Given the description of an element on the screen output the (x, y) to click on. 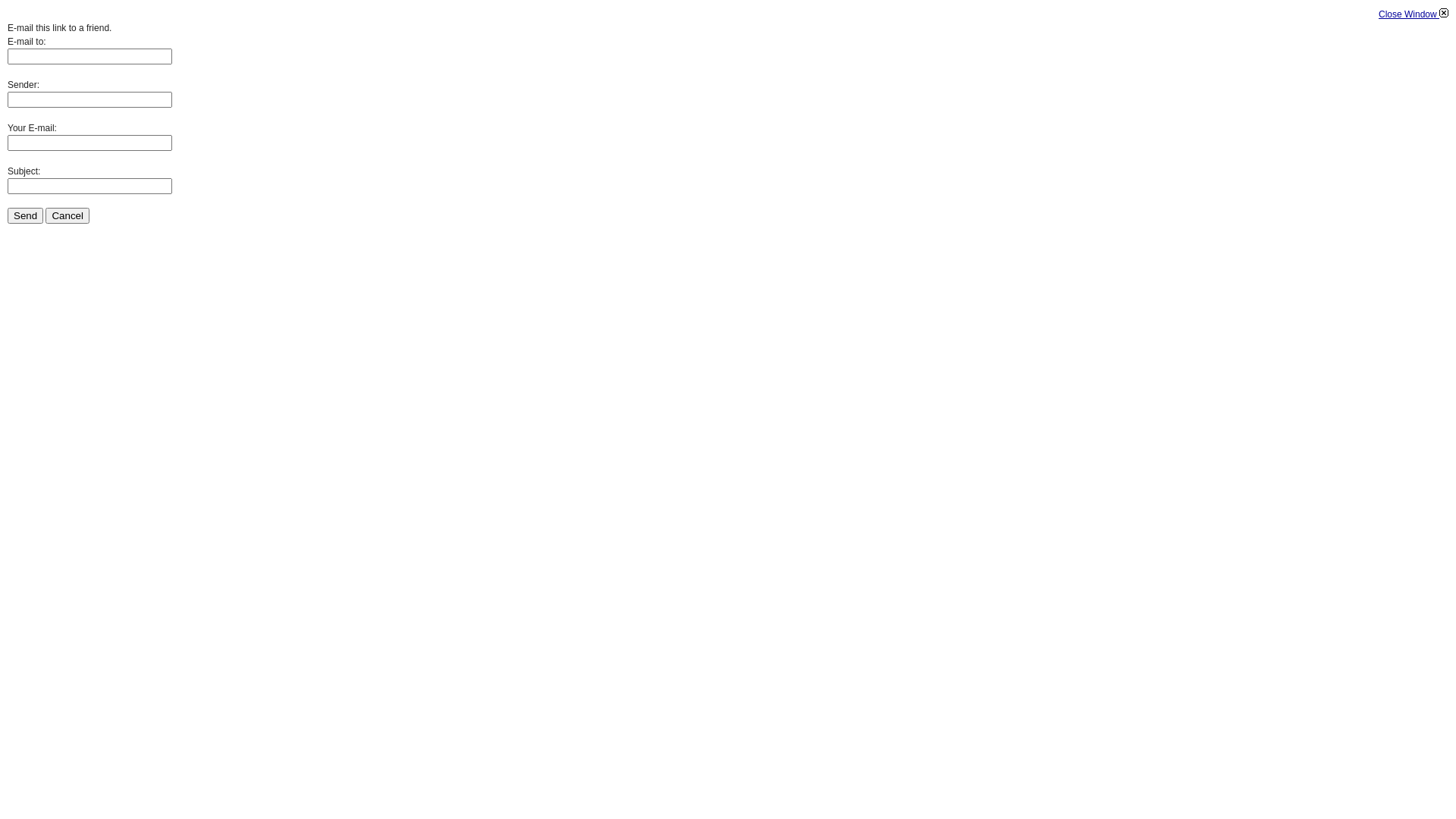
Cancel Element type: text (67, 215)
Close Window Element type: text (1413, 14)
Send Element type: text (25, 215)
